Given the description of an element on the screen output the (x, y) to click on. 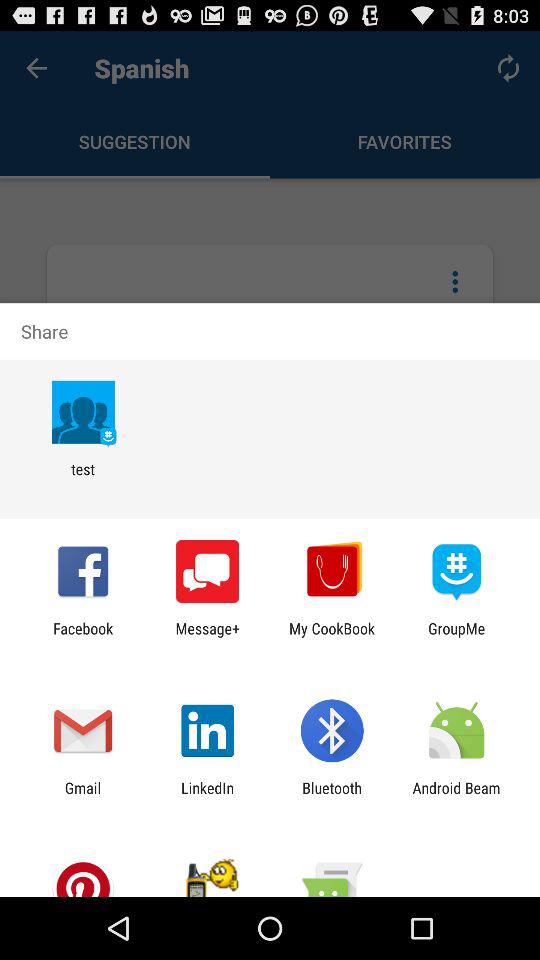
open message+ app (207, 637)
